Given the description of an element on the screen output the (x, y) to click on. 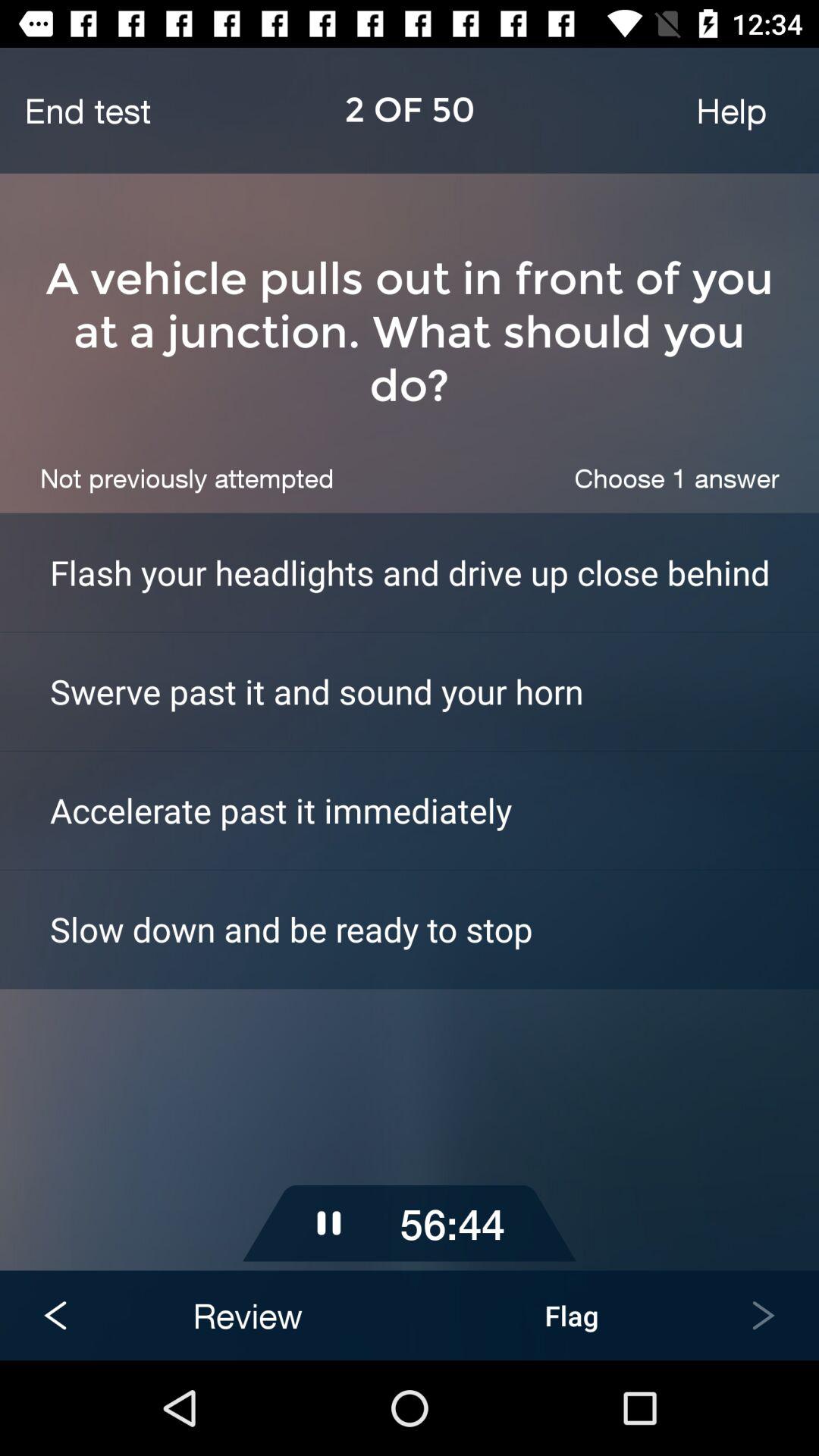
choose the icon next to help icon (87, 110)
